Given the description of an element on the screen output the (x, y) to click on. 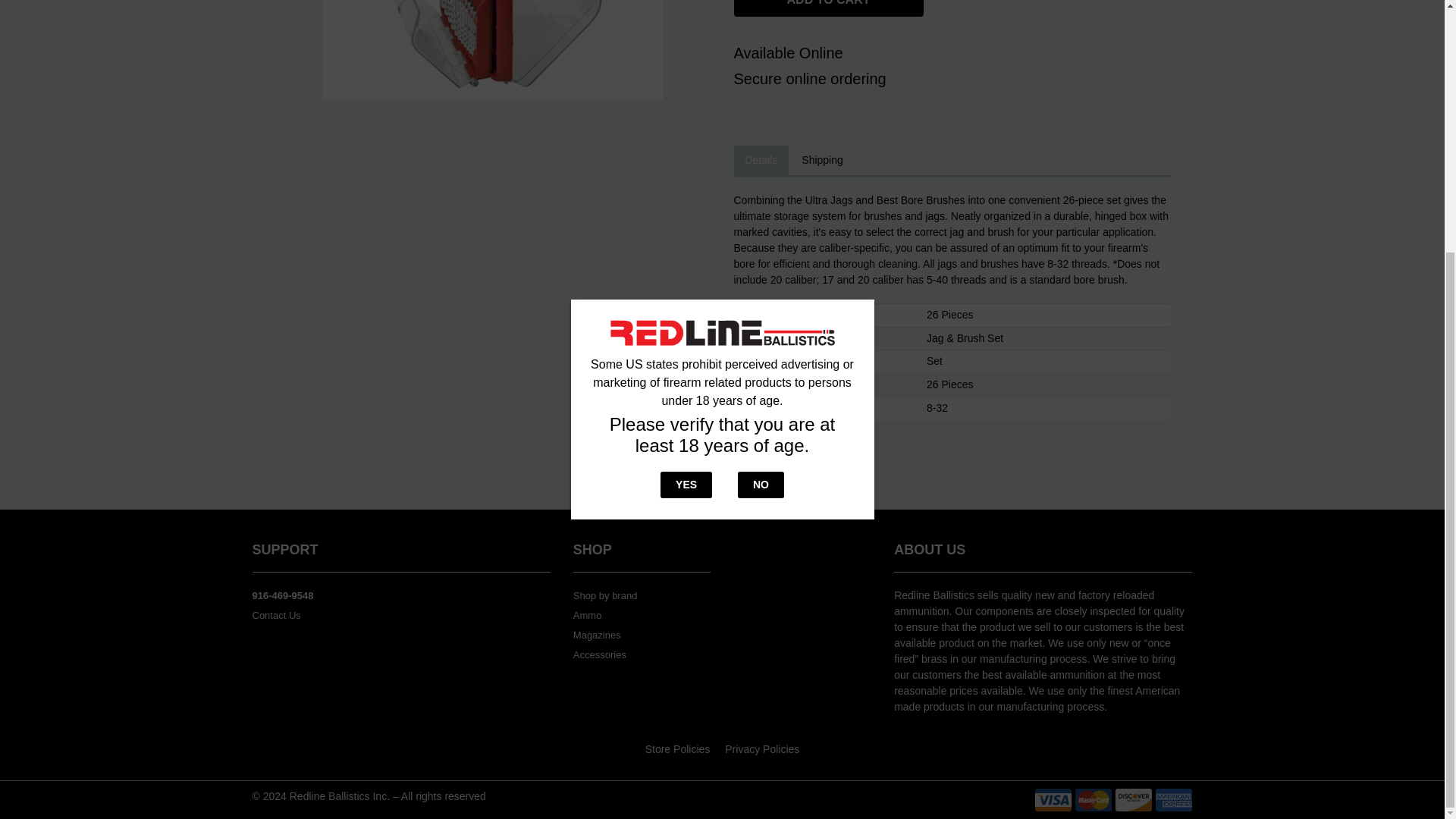
Details (761, 160)
ADD TO CART (836, 12)
Shipping (822, 160)
ADD TO CART (828, 8)
